Given the description of an element on the screen output the (x, y) to click on. 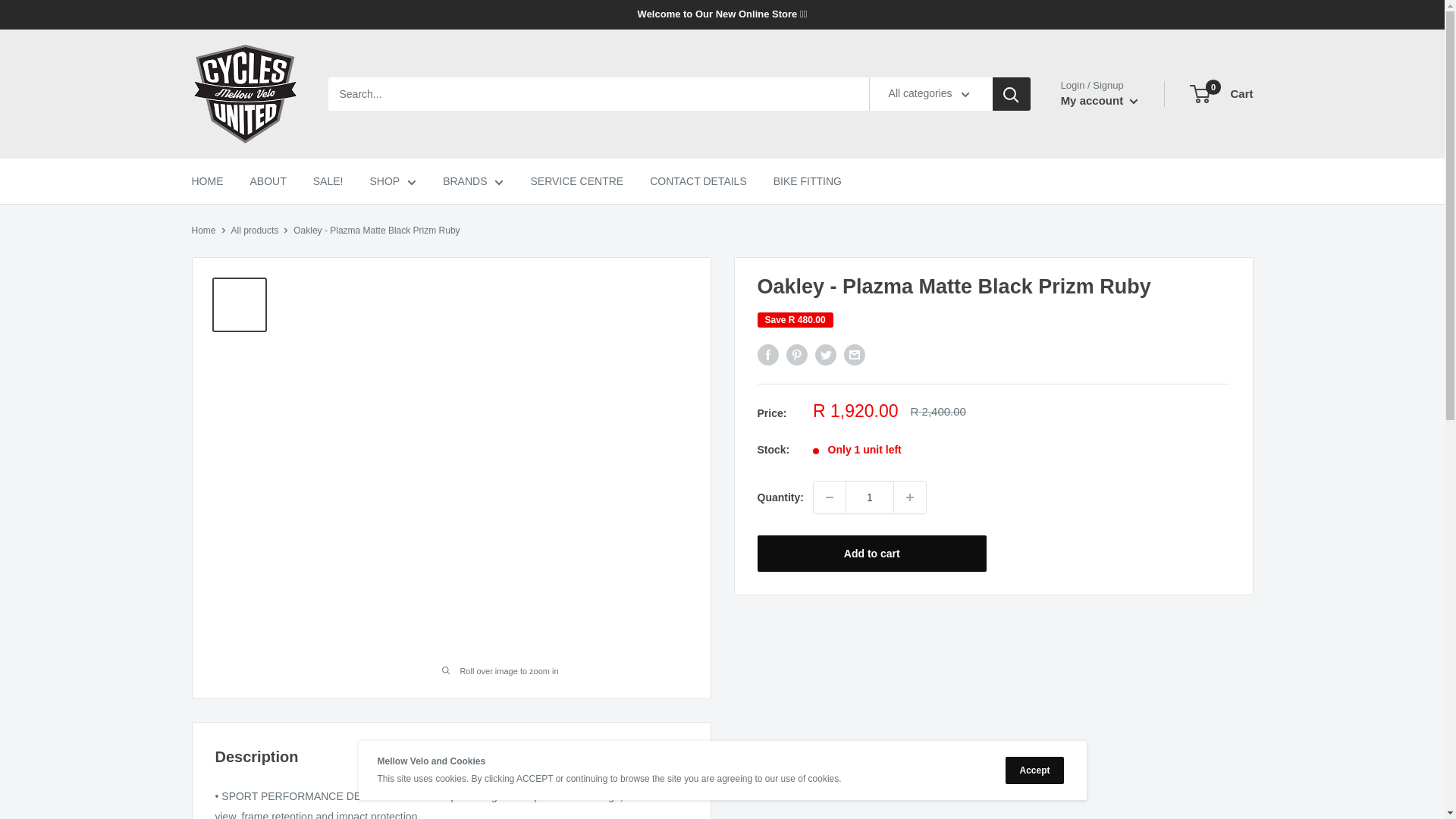
Increase quantity by 1 (909, 497)
1 (869, 497)
Decrease quantity by 1 (829, 497)
